Given the description of an element on the screen output the (x, y) to click on. 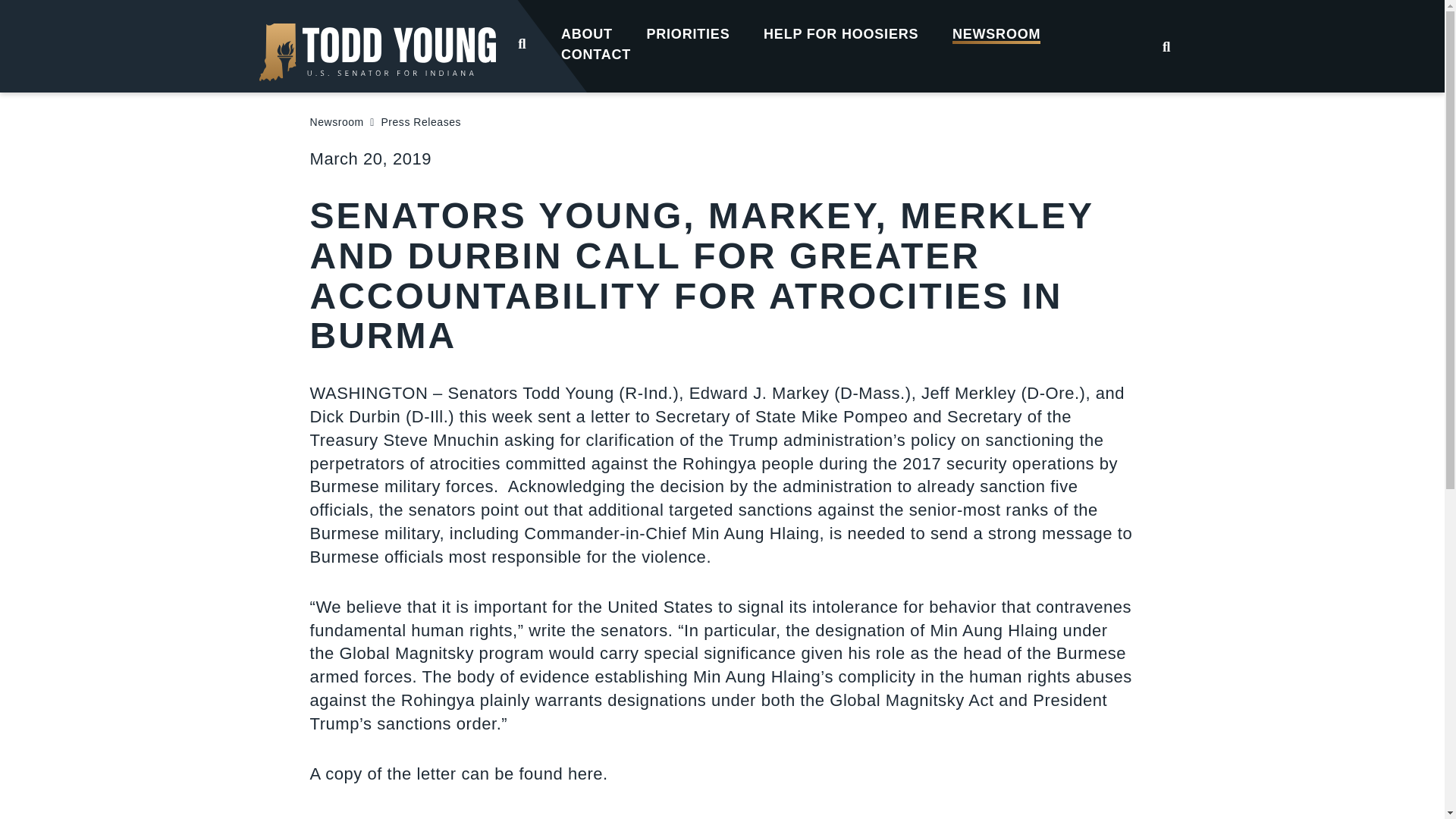
PRIORITIES (687, 32)
NEWSROOM (997, 32)
HELP FOR HOOSIERS (841, 32)
CONTACT (595, 53)
ABOUT (587, 32)
